Given the description of an element on the screen output the (x, y) to click on. 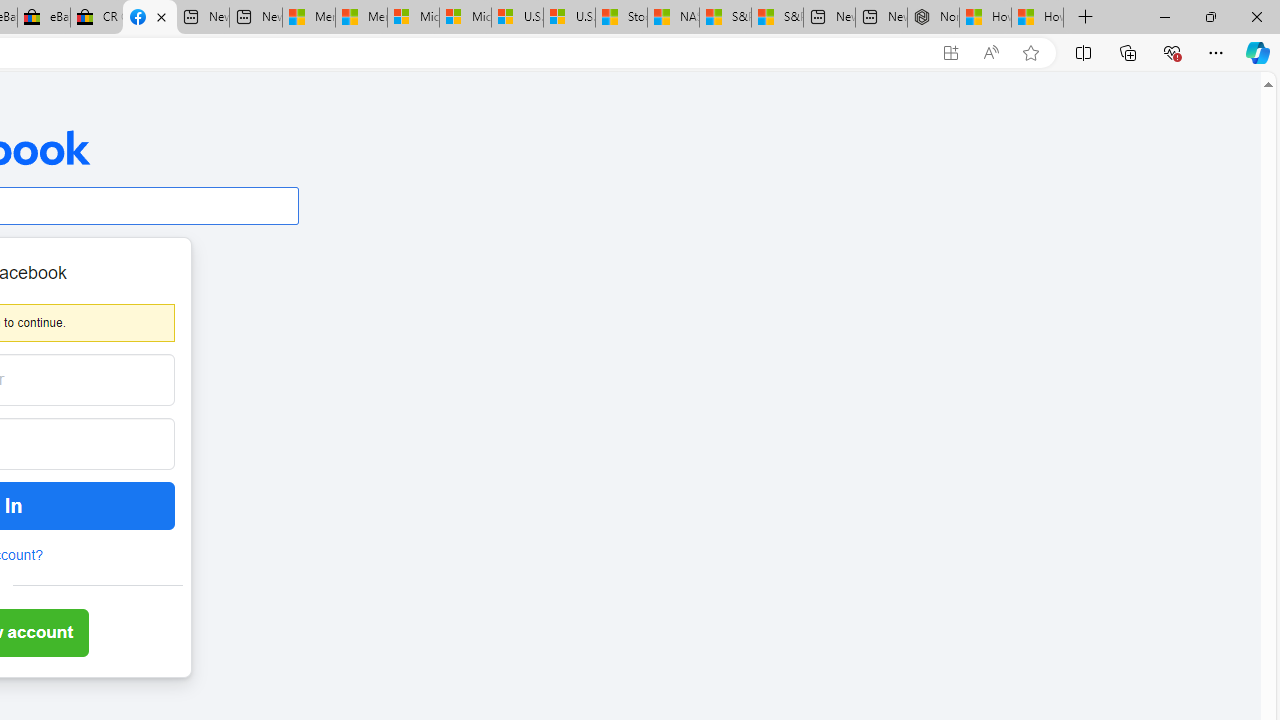
eBay Inc. Reports Third Quarter 2023 Results (43, 17)
App available. Install Facebook (950, 53)
S&P 500, Nasdaq end lower, weighed by Nvidia dip | Watch (776, 17)
Log into Facebook (150, 17)
